Given the description of an element on the screen output the (x, y) to click on. 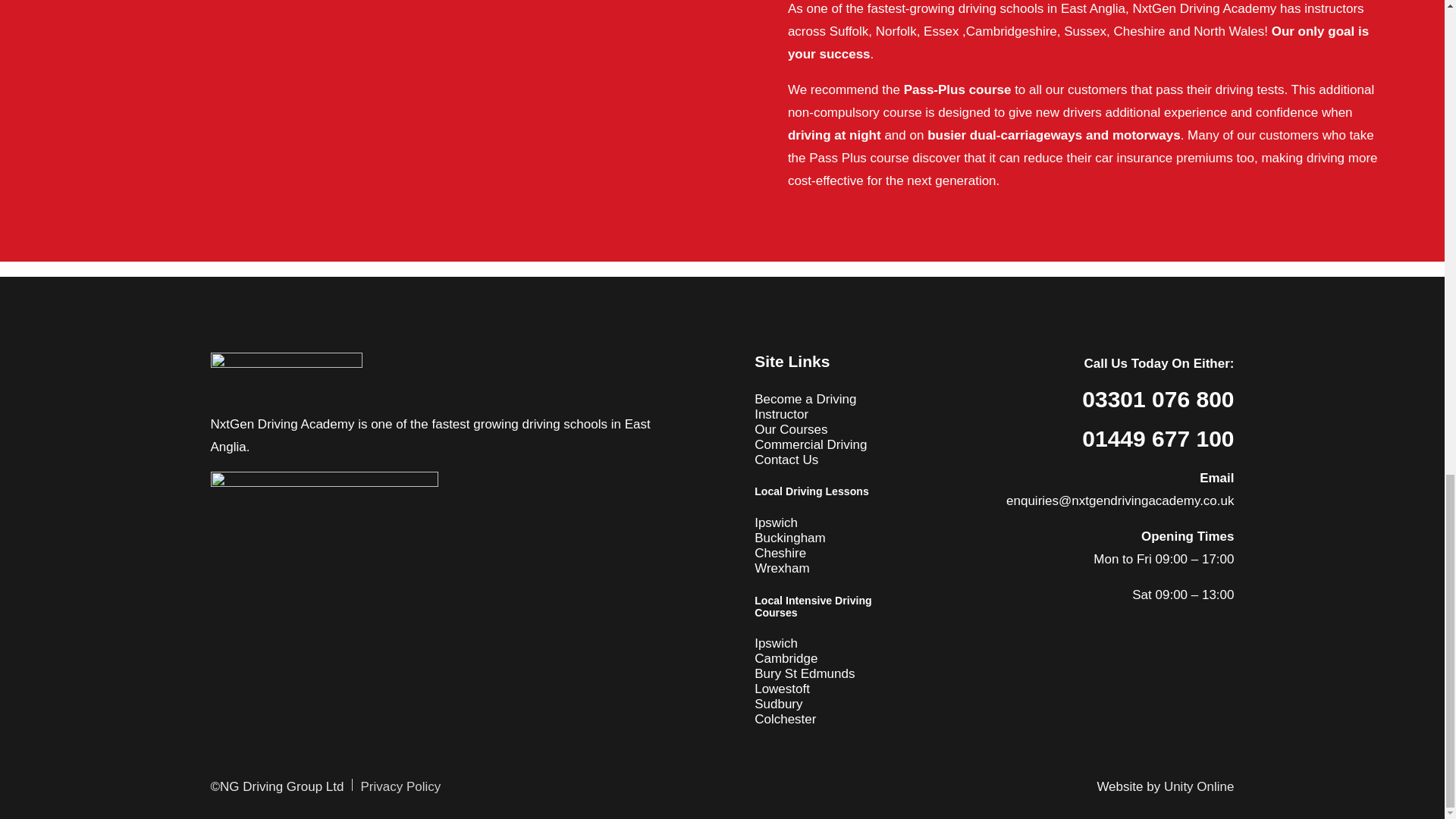
Become a Driving Instructor (805, 406)
Pass-Plus course (957, 89)
Our Courses (790, 429)
